Given the description of an element on the screen output the (x, y) to click on. 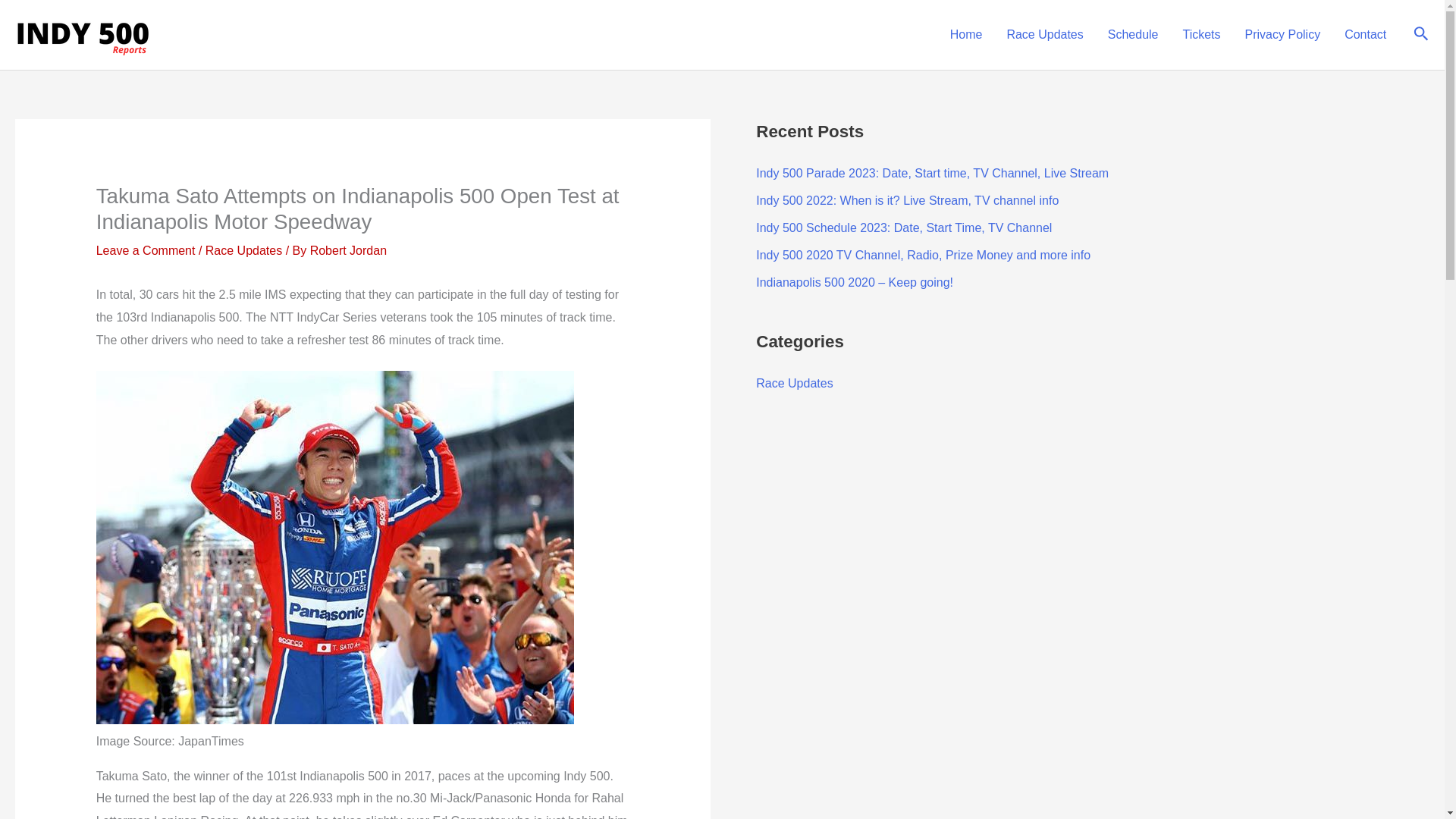
Race Updates (243, 250)
Tickets (1200, 34)
Race Updates (1044, 34)
Robert Jordan (348, 250)
Leave a Comment (145, 250)
Indy 500 2020 TV Channel, Radio, Prize Money and more info (922, 254)
View all posts by Robert Jordan (348, 250)
Indy 500 2022: When is it? Live Stream, TV channel info (906, 200)
Schedule (1133, 34)
Indy 500 Schedule 2023: Date, Start Time, TV Channel (903, 227)
Race Updates (793, 382)
Home (965, 34)
Privacy Policy (1283, 34)
Contact (1364, 34)
